Given the description of an element on the screen output the (x, y) to click on. 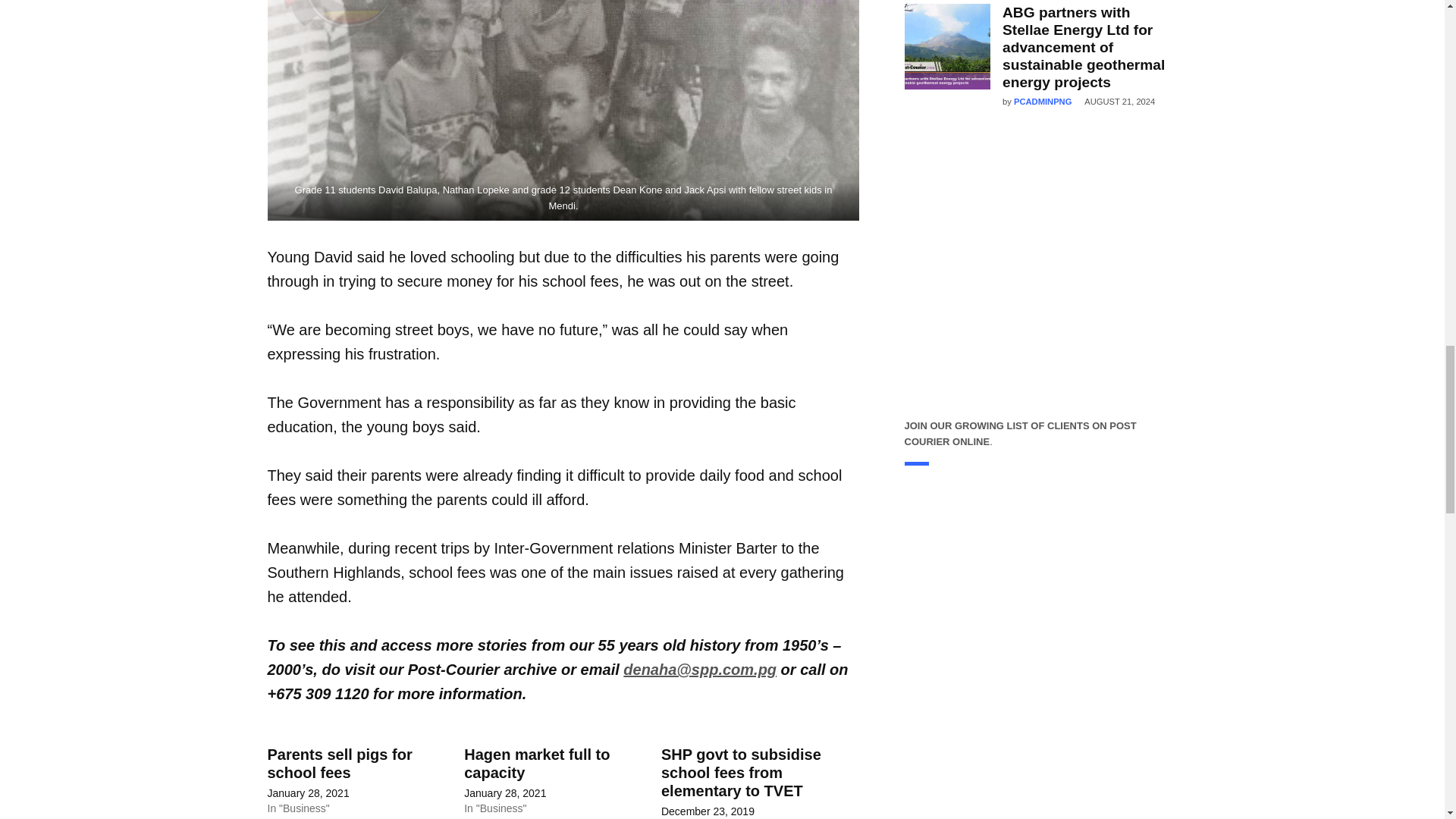
SHP govt to subsidise school fees from elementary to TVET (741, 772)
Hagen market full to capacity (537, 763)
VideoPress Video Player (1040, 650)
VideoPress Video Player (1040, 277)
Parents sell pigs for school fees (339, 763)
